Given the description of an element on the screen output the (x, y) to click on. 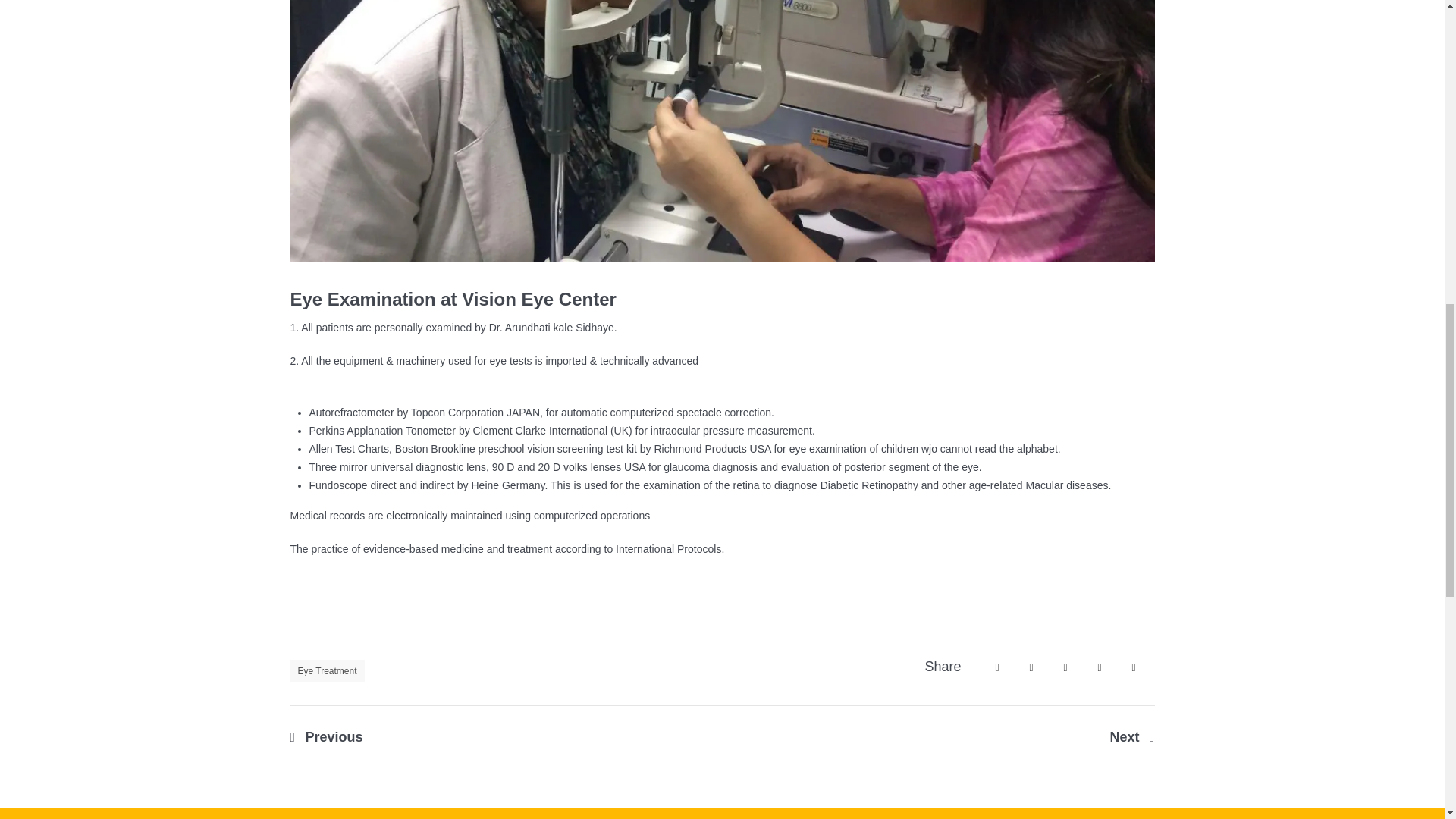
Next (1131, 737)
Eye Treatment (326, 671)
Previous (325, 737)
